Given the description of an element on the screen output the (x, y) to click on. 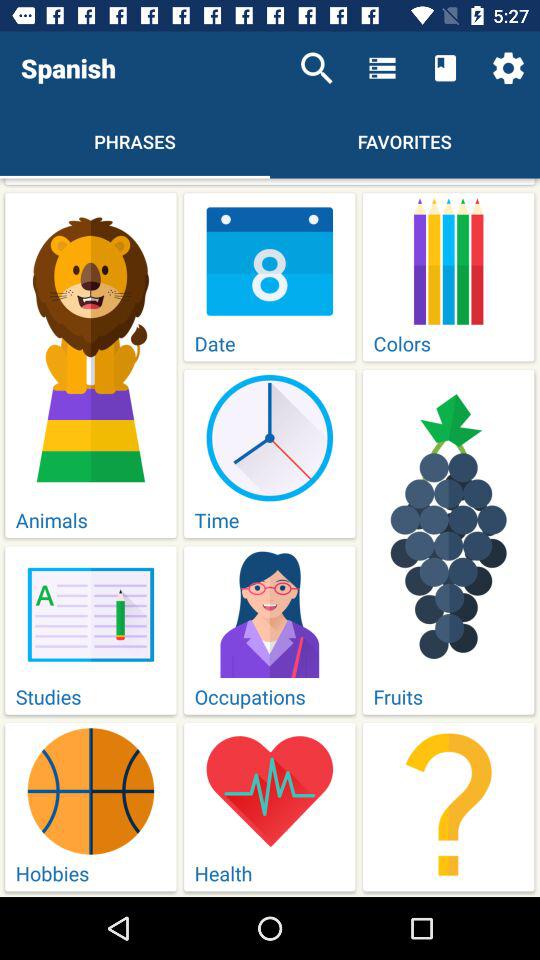
turn off icon above the favorites item (381, 67)
